Given the description of an element on the screen output the (x, y) to click on. 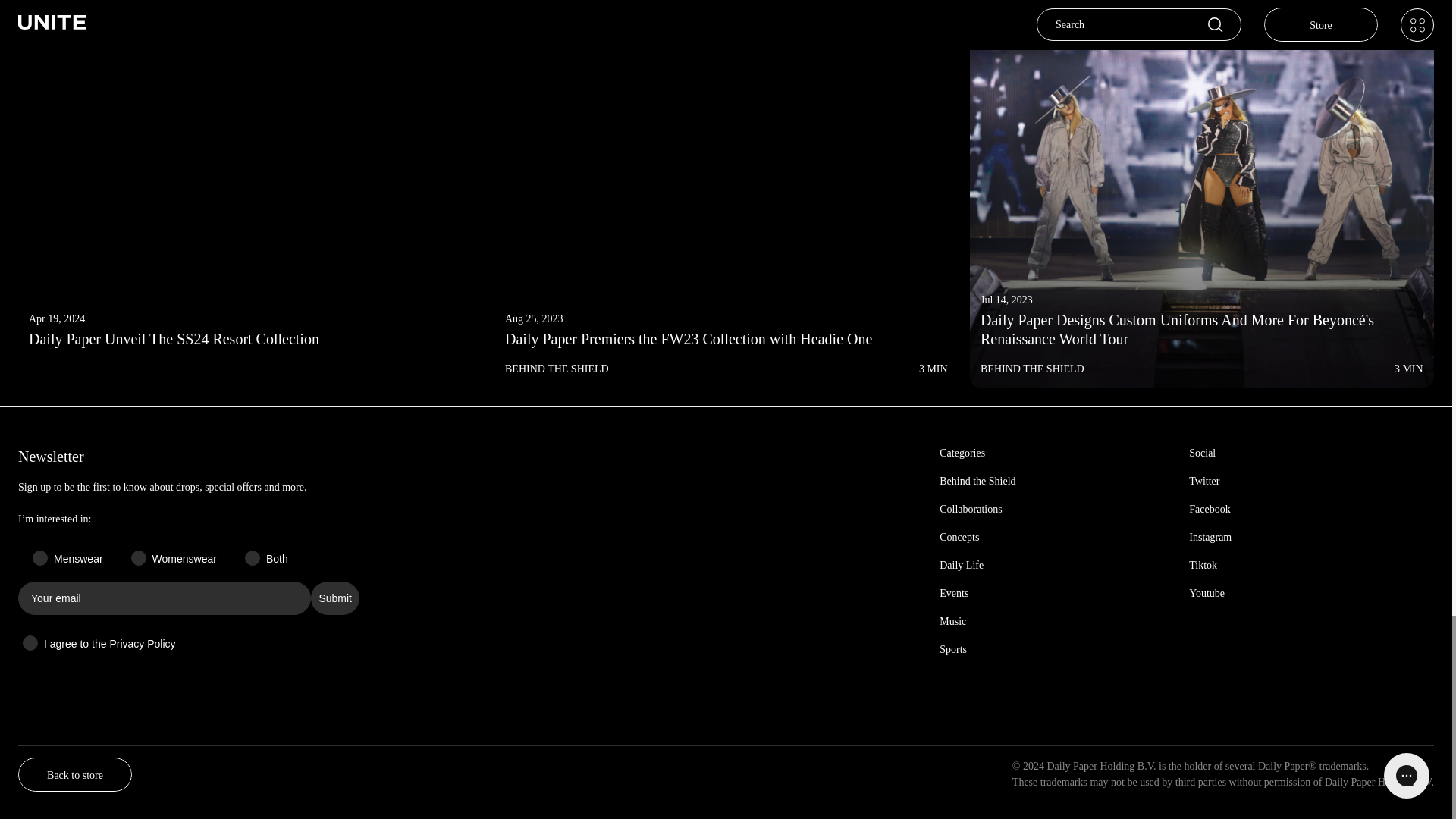
on (27, 630)
